Given the description of an element on the screen output the (x, y) to click on. 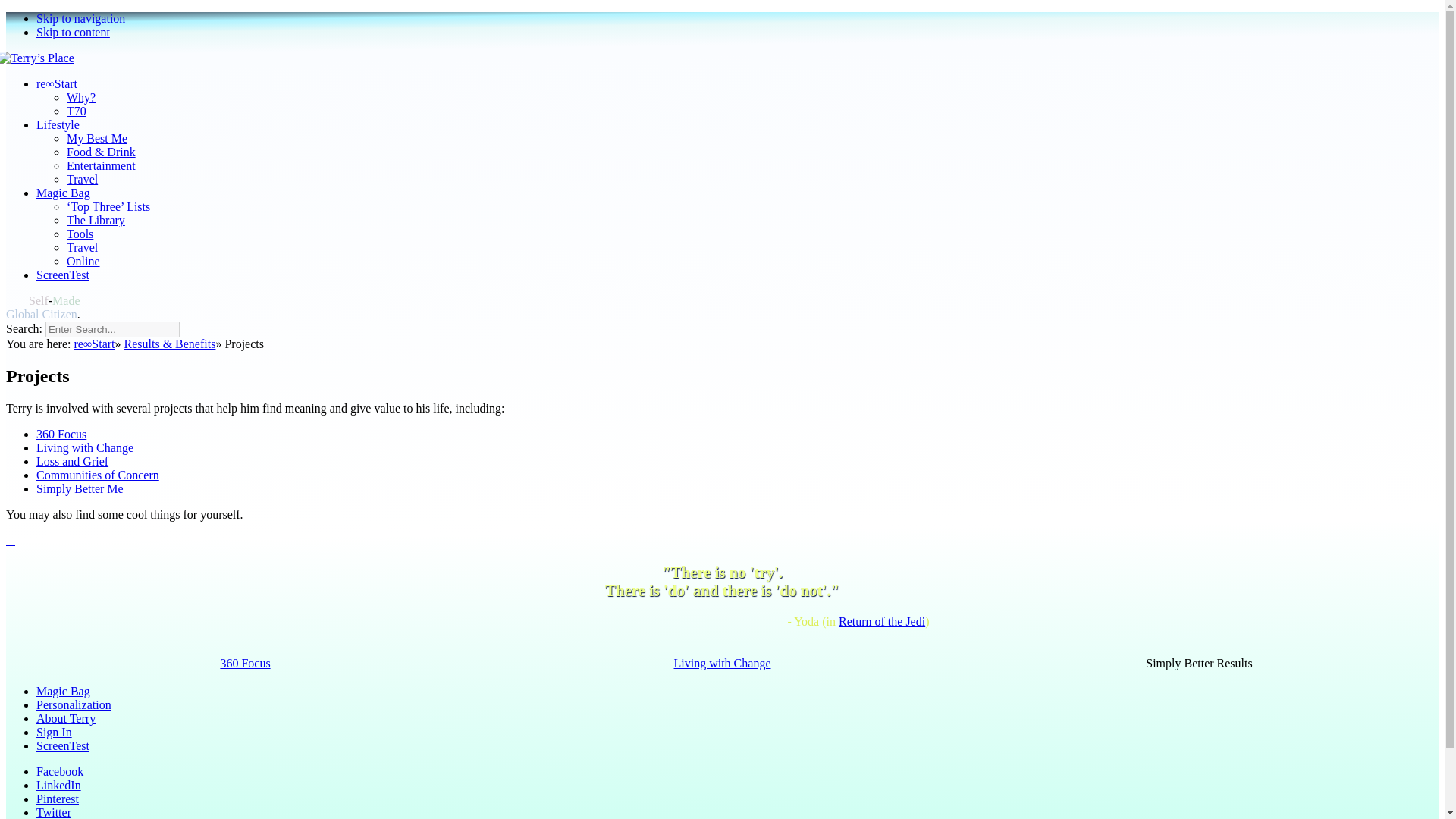
Facebook (59, 771)
Skip to navigation (80, 18)
Travel (81, 246)
Twitter (53, 812)
Communities of Concern (97, 474)
ScreenTest (62, 745)
Magic Bag (63, 690)
Made (66, 300)
Living with Change (84, 447)
Entertainment (100, 164)
Lifestyle (58, 124)
Online (83, 260)
Simply Better Me (79, 488)
Living with Change (721, 662)
Self (38, 300)
